Given the description of an element on the screen output the (x, y) to click on. 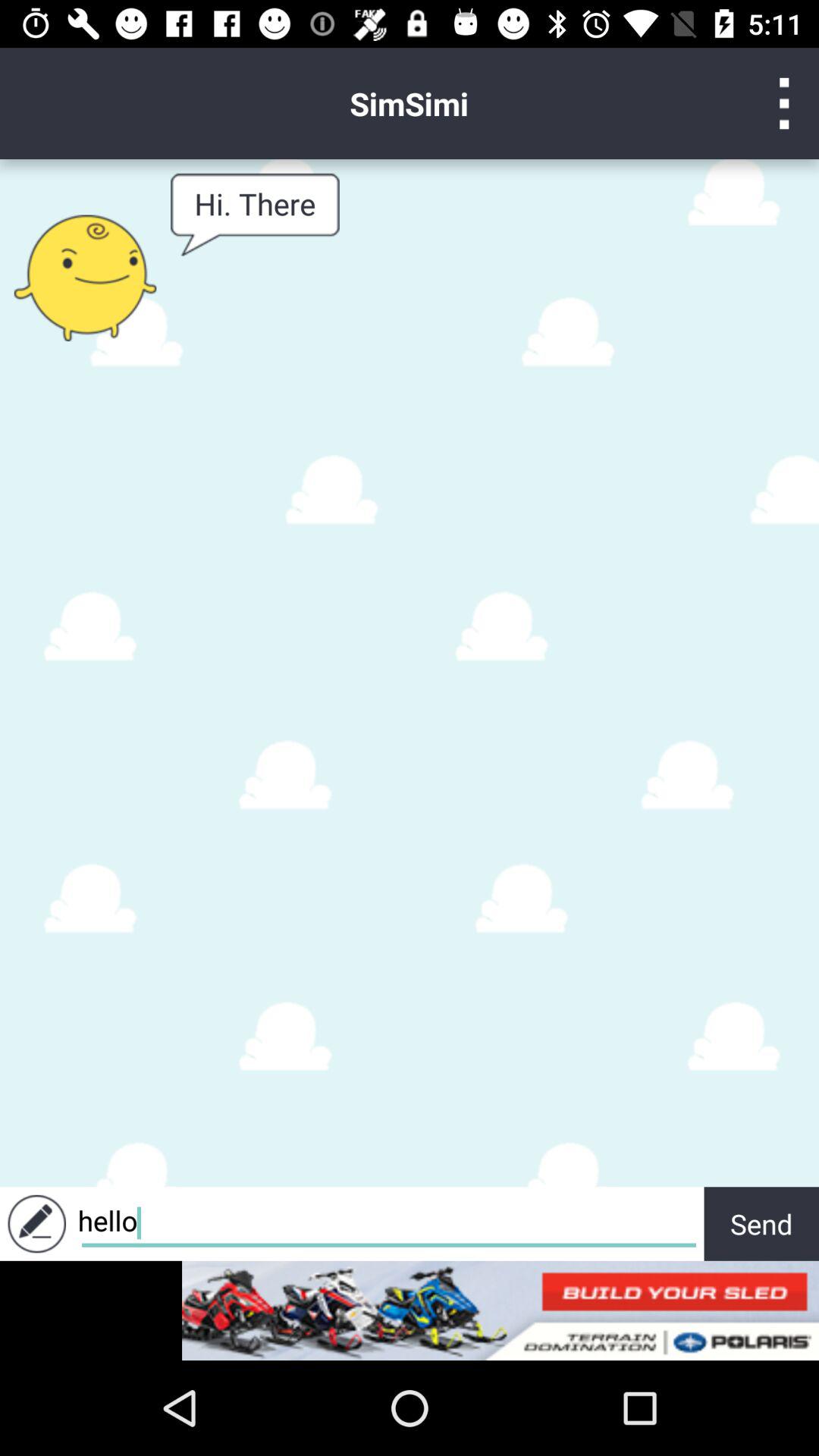
go to setting (784, 103)
